Given the description of an element on the screen output the (x, y) to click on. 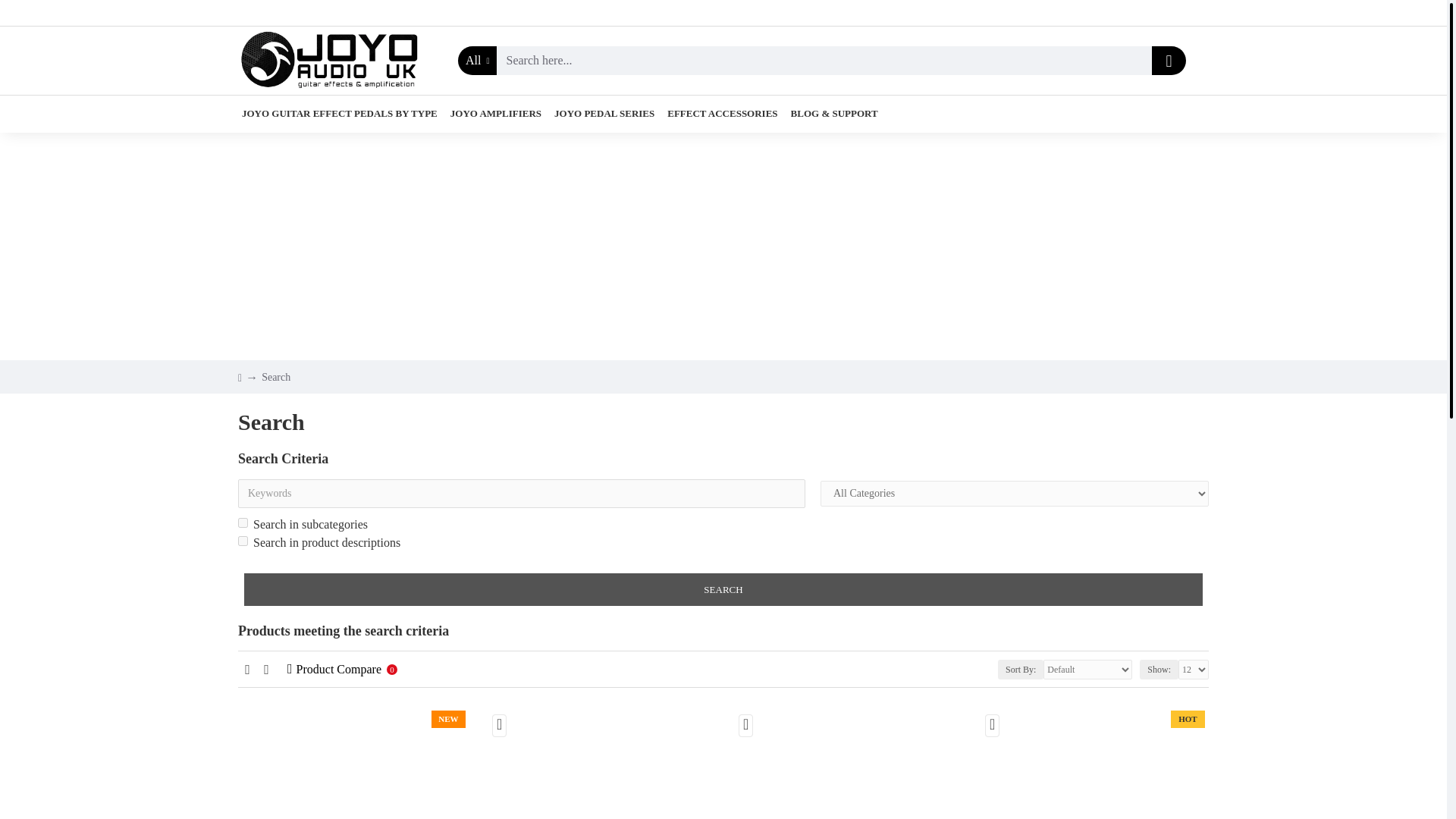
JOYO PEDAL SERIES (604, 113)
JOYO Audio UK - Guitar Effect Pedals and Amps (329, 60)
1 (242, 541)
List (266, 669)
1 (242, 522)
Grid (247, 669)
JOYO AMPLIFIERS (495, 113)
JOYO GUITAR EFFECT PEDALS BY TYPE (339, 113)
EFFECT ACCESSORIES (721, 113)
